Given the description of an element on the screen output the (x, y) to click on. 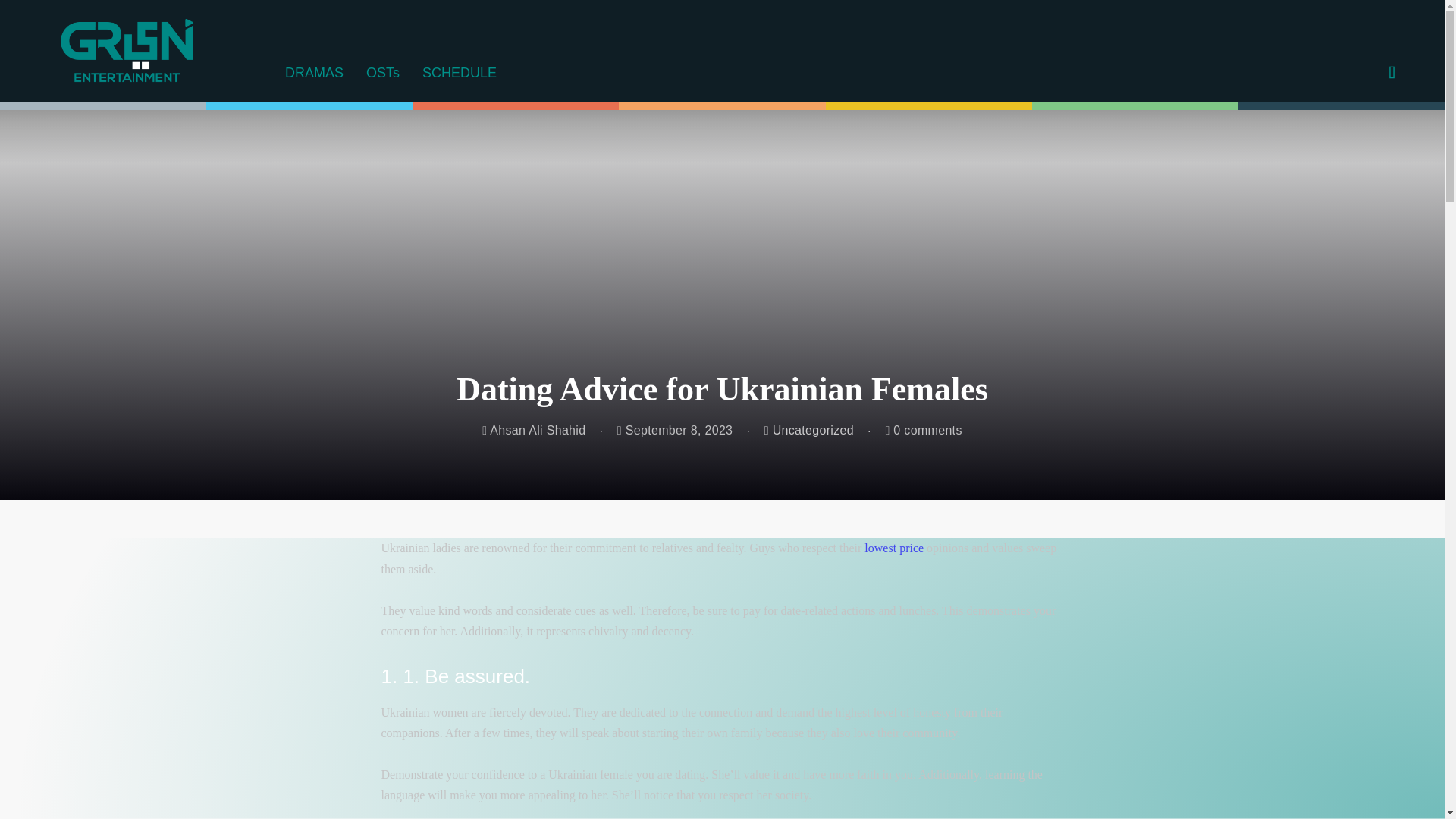
Green TV (127, 51)
lowest price (893, 547)
0 comments (922, 430)
Search Videos (676, 327)
September 8, 2023 (674, 430)
Ahsan Ali Shahid (533, 430)
SCHEDULE (459, 72)
OSTs (382, 72)
DRAMAS (314, 72)
